Given the description of an element on the screen output the (x, y) to click on. 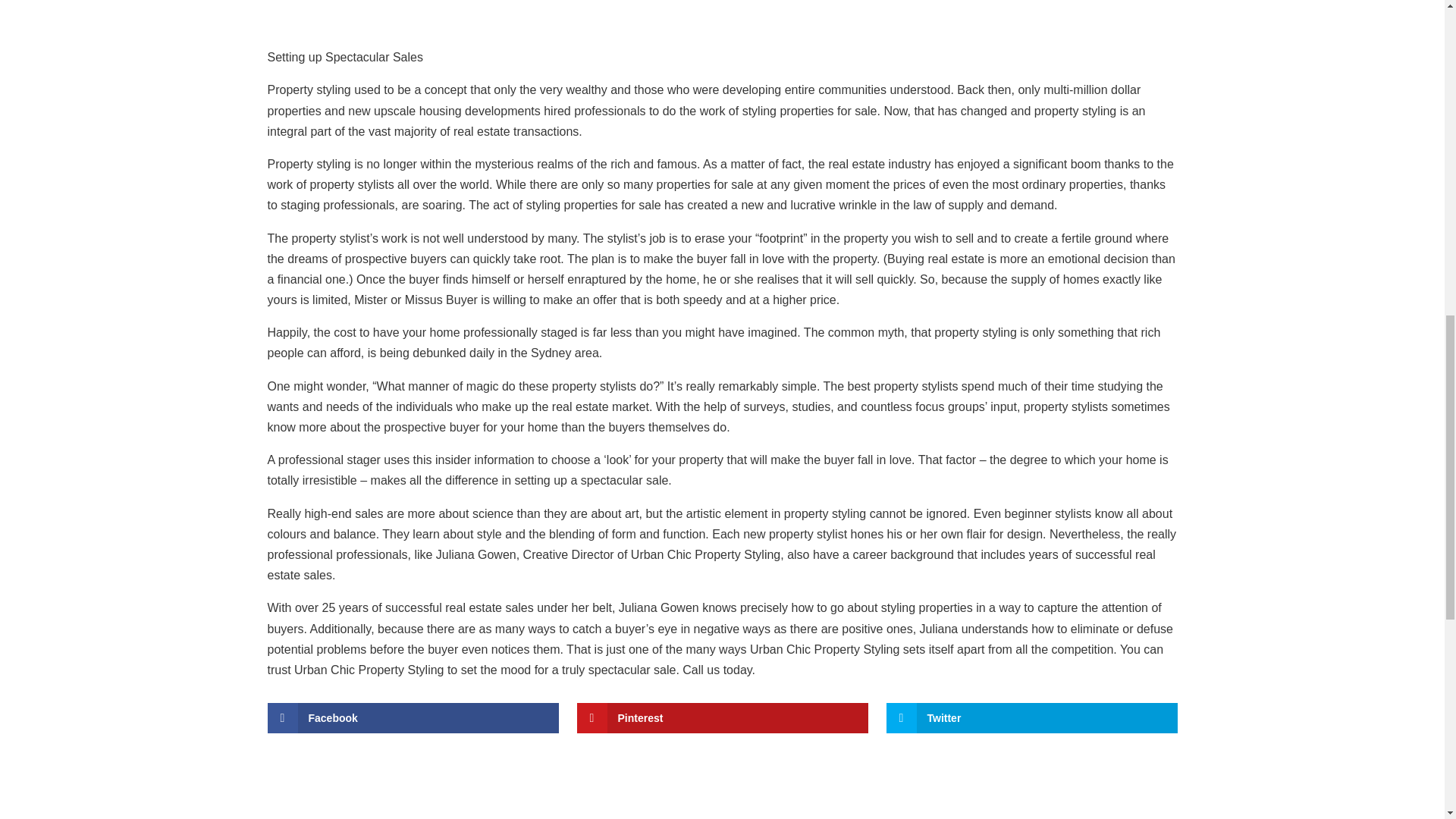
Twitter (1030, 717)
Pinterest (721, 717)
Facebook (411, 717)
